Given the description of an element on the screen output the (x, y) to click on. 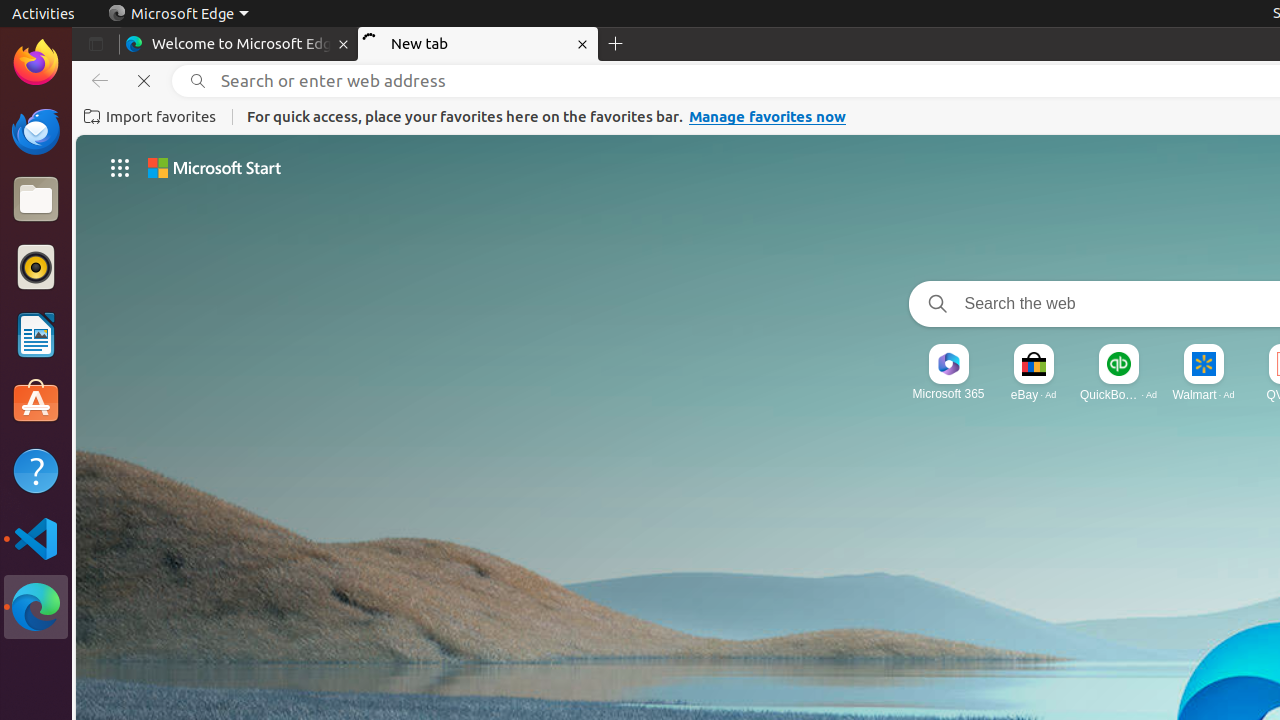
Rhythmbox Element type: push-button (36, 267)
New tab Element type: page-tab (478, 44)
Ad Element type: link (1051, 394)
Import favorites Element type: push-button (150, 117)
Refresh Element type: push-button (144, 81)
